Given the description of an element on the screen output the (x, y) to click on. 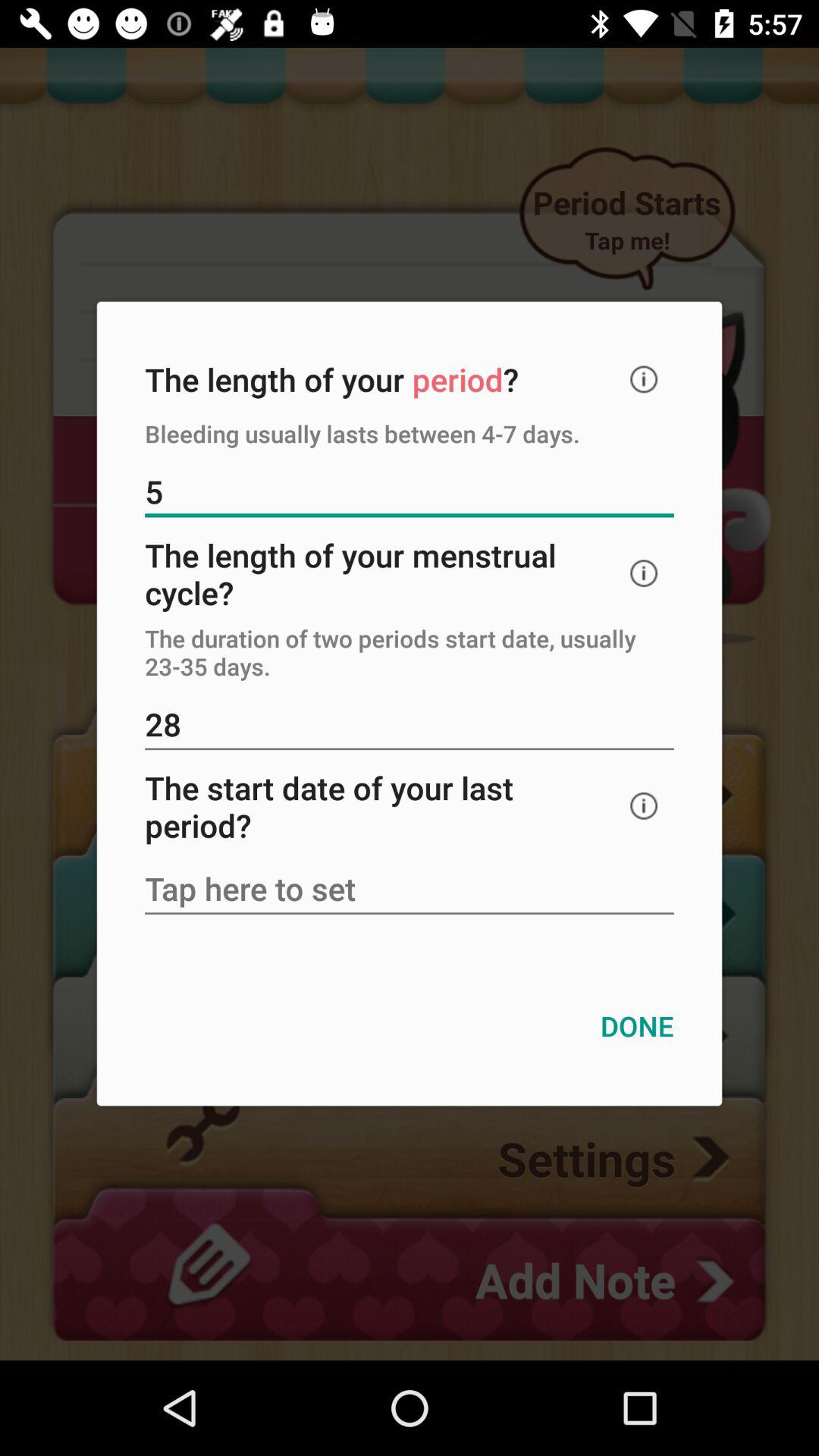
turn off item at the top right corner (643, 379)
